Given the description of an element on the screen output the (x, y) to click on. 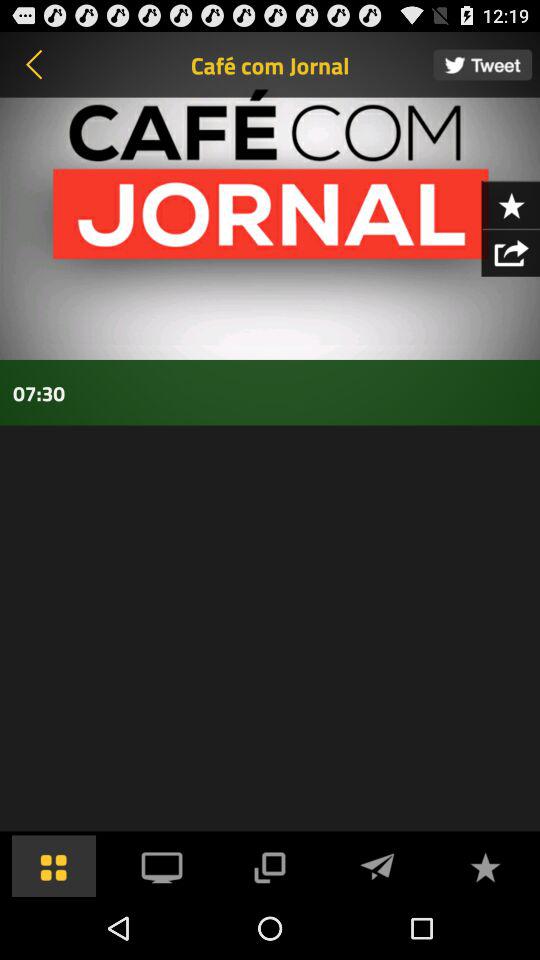
star option (510, 204)
